Given the description of an element on the screen output the (x, y) to click on. 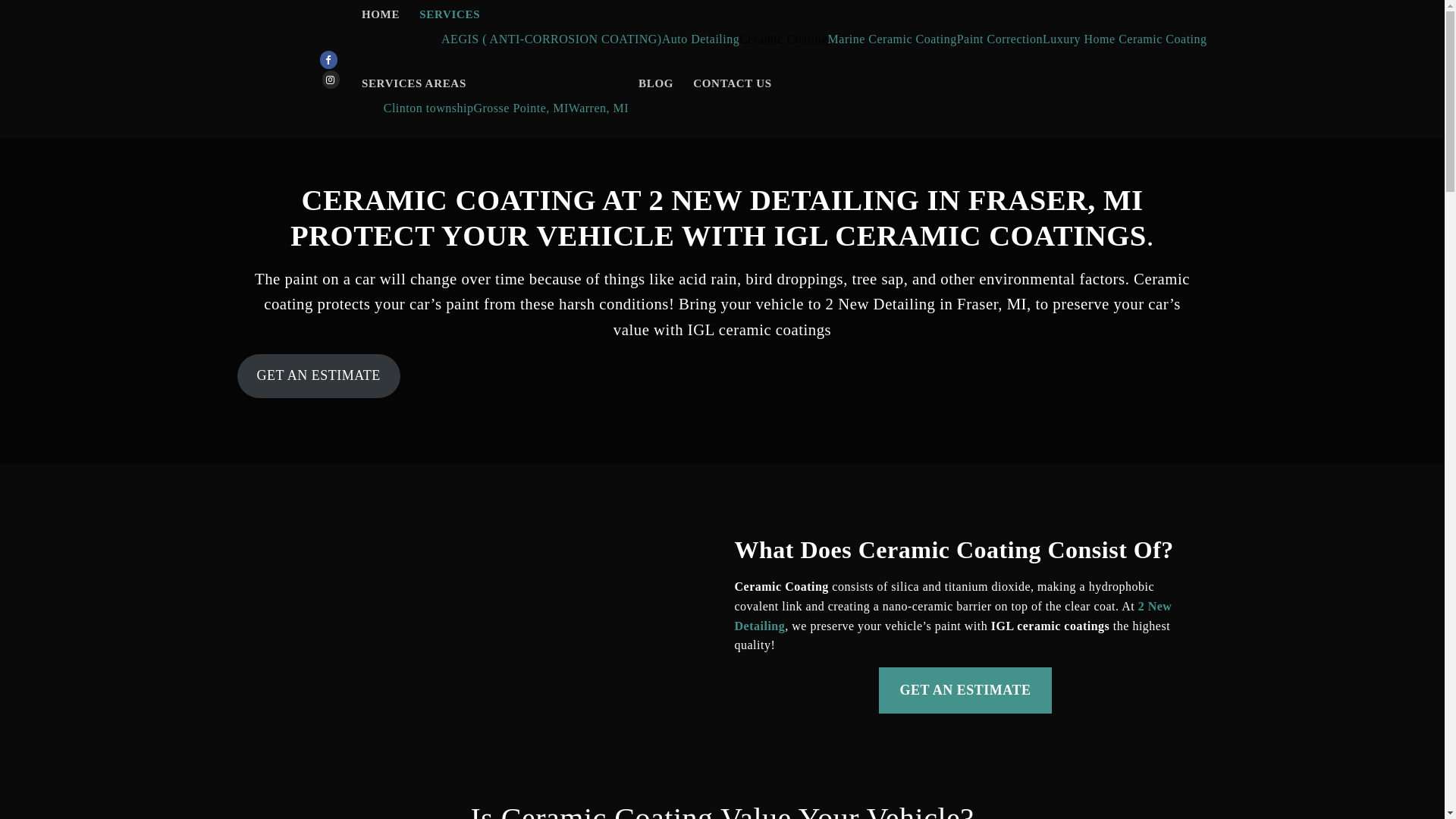
Marine Ceramic Coating Element type: text (892, 39)
Ceramic Coating Element type: text (783, 39)
2 New Detailing Element type: text (952, 615)
GET AN ESTIMATE Element type: text (317, 375)
SERVICES AREAS
  Element type: text (415, 83)
Instagram Element type: hover (330, 79)
Grosse Pointe, MI Element type: text (520, 108)
Luxury Home Ceramic Coating Element type: text (1124, 39)
SERVICES
  Element type: text (451, 14)
Paint Correction Element type: text (999, 39)
Auto Detailing Element type: text (701, 39)
Facebook Element type: hover (328, 60)
HOME Element type: text (380, 14)
Warren, MI Element type: text (598, 108)
CONTACT US Element type: text (732, 83)
Clinton township Element type: text (428, 108)
AEGIS ( ANTI-CORROSION COATING) Element type: text (551, 39)
GET AN ESTIMATE Element type: text (965, 690)
BLOG Element type: text (655, 83)
